Given the description of an element on the screen output the (x, y) to click on. 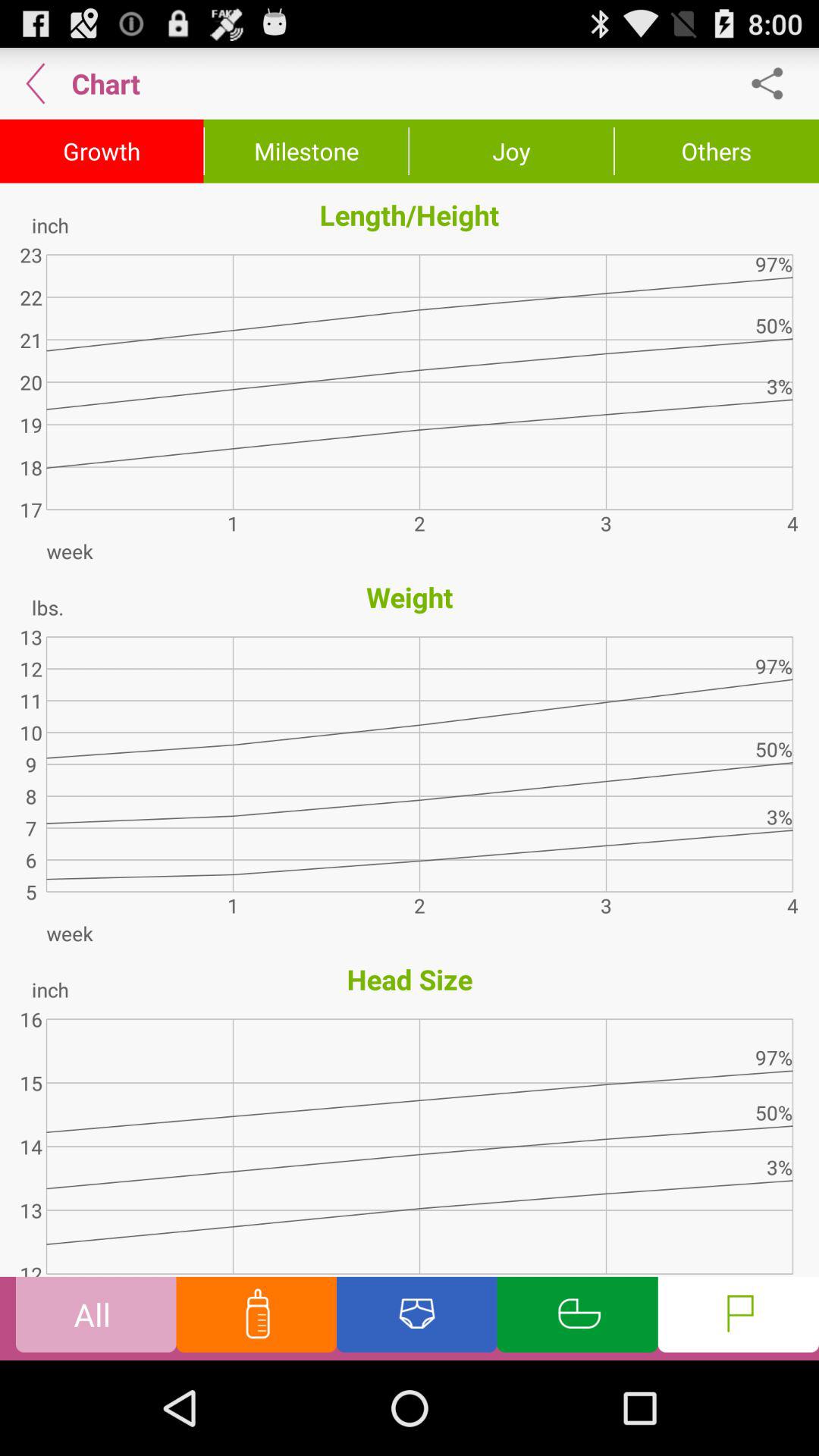
click button above the others (775, 83)
